Given the description of an element on the screen output the (x, y) to click on. 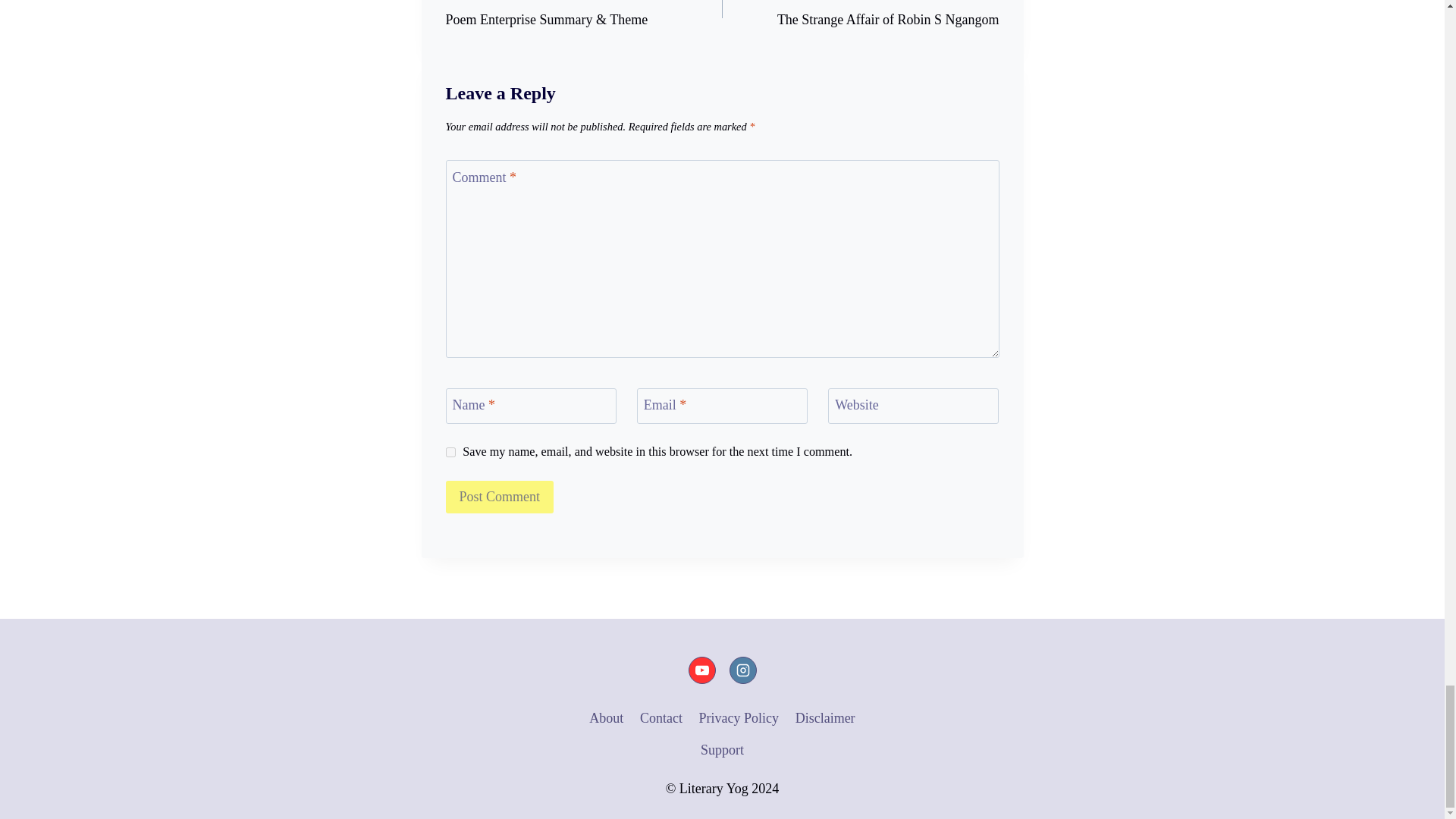
Post Comment (499, 496)
yes (450, 452)
